Given the description of an element on the screen output the (x, y) to click on. 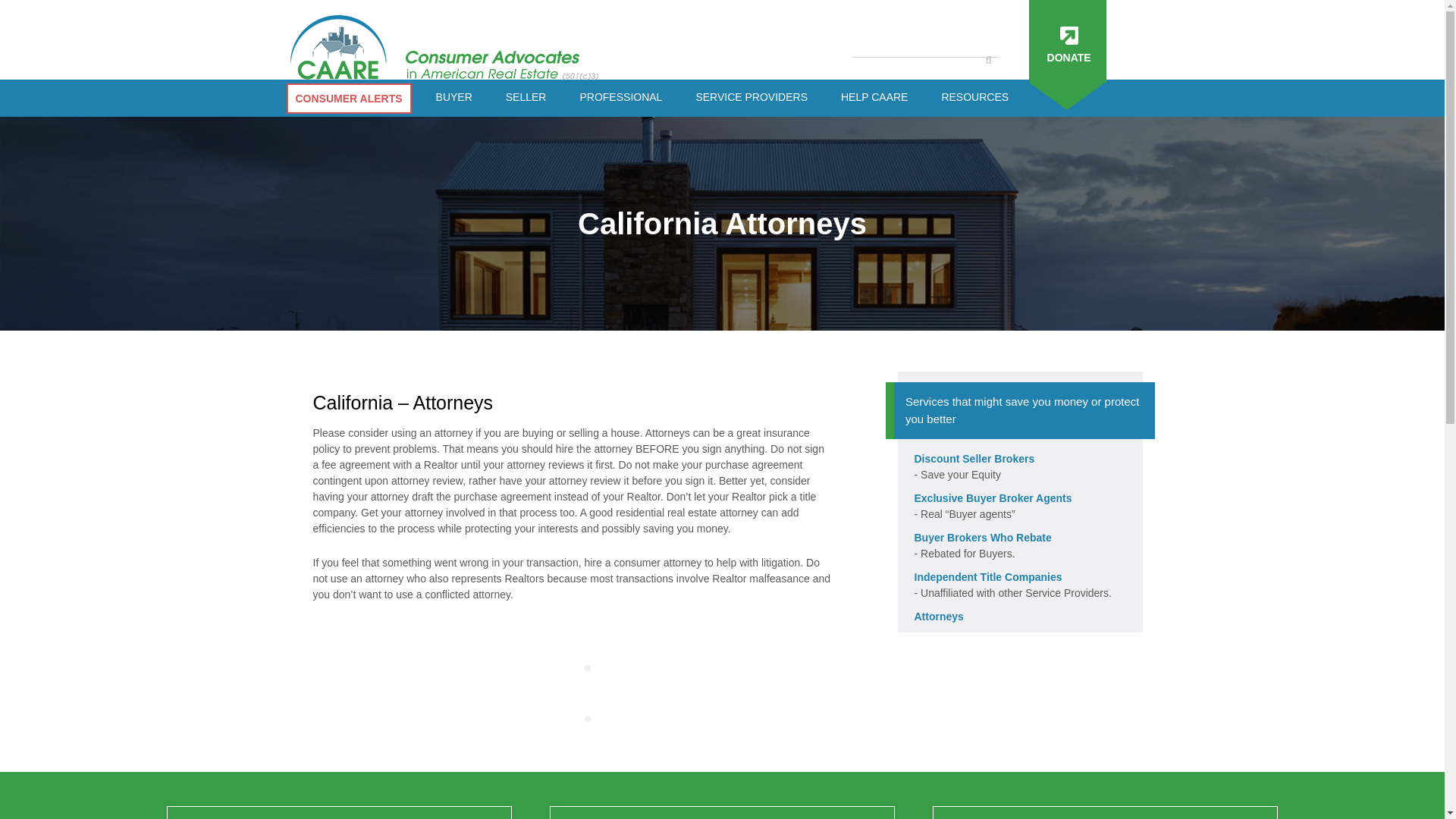
PROFESSIONAL (620, 96)
CONSUMER ALERTS (349, 98)
HELP CAARE (874, 96)
BUYER (454, 96)
Discount Seller Brokers (1020, 458)
Buyer Brokers Who Rebate (1020, 537)
Exclusive Buyer Broker Agents (1020, 498)
SELLER (526, 96)
DONATE (1067, 41)
Independent Title Companies (1020, 577)
SERVICE PROVIDERS (751, 96)
RESOURCES (974, 96)
Attorneys (1020, 616)
